Given the description of an element on the screen output the (x, y) to click on. 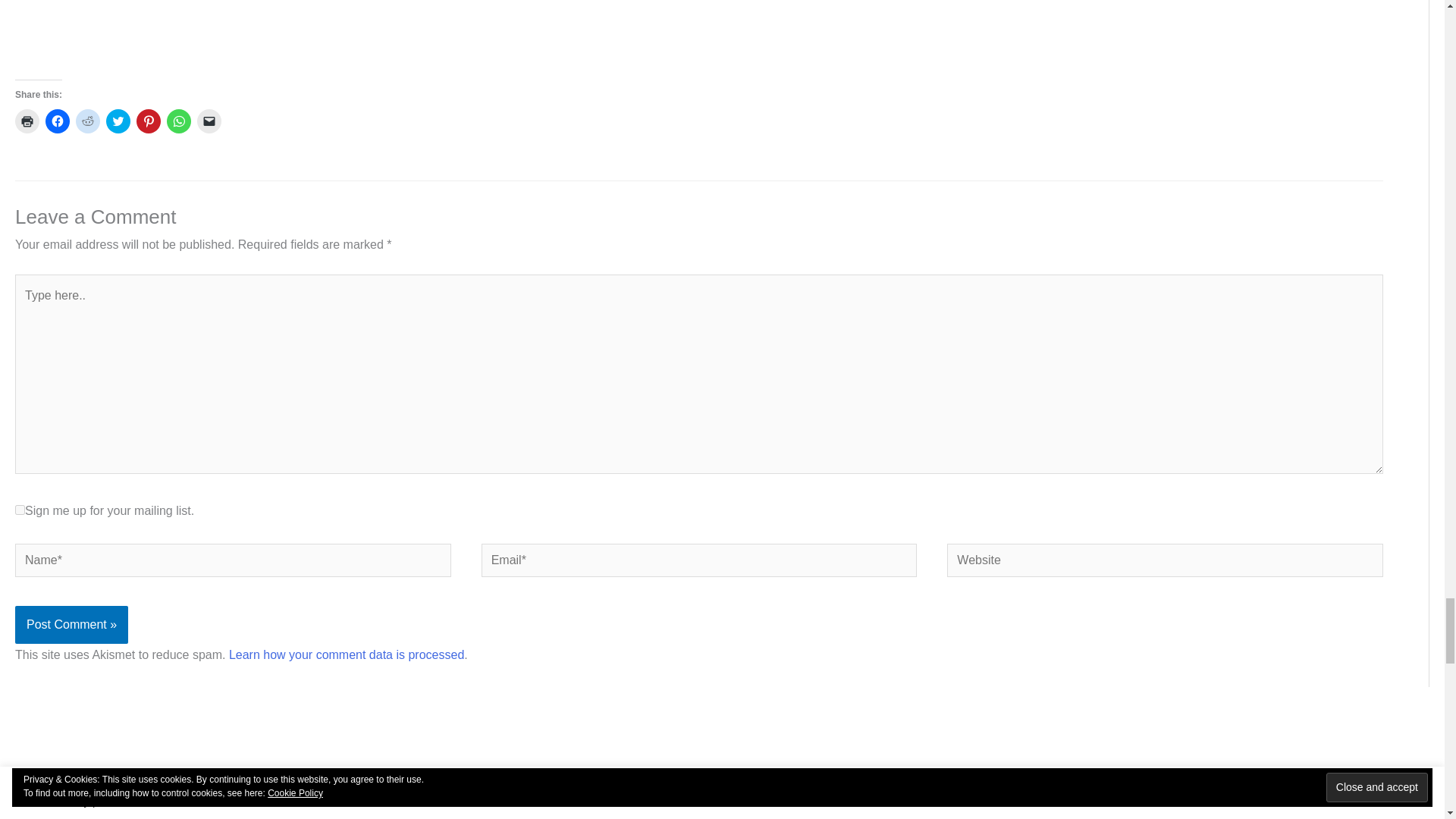
Click to share on Twitter (118, 120)
1 (19, 510)
Click to share on Pinterest (148, 120)
Click to email a link to a friend (208, 120)
Click to share on WhatsApp (178, 120)
Click to share on Facebook (57, 120)
Click to print (26, 120)
Click to share on Reddit (87, 120)
